Given the description of an element on the screen output the (x, y) to click on. 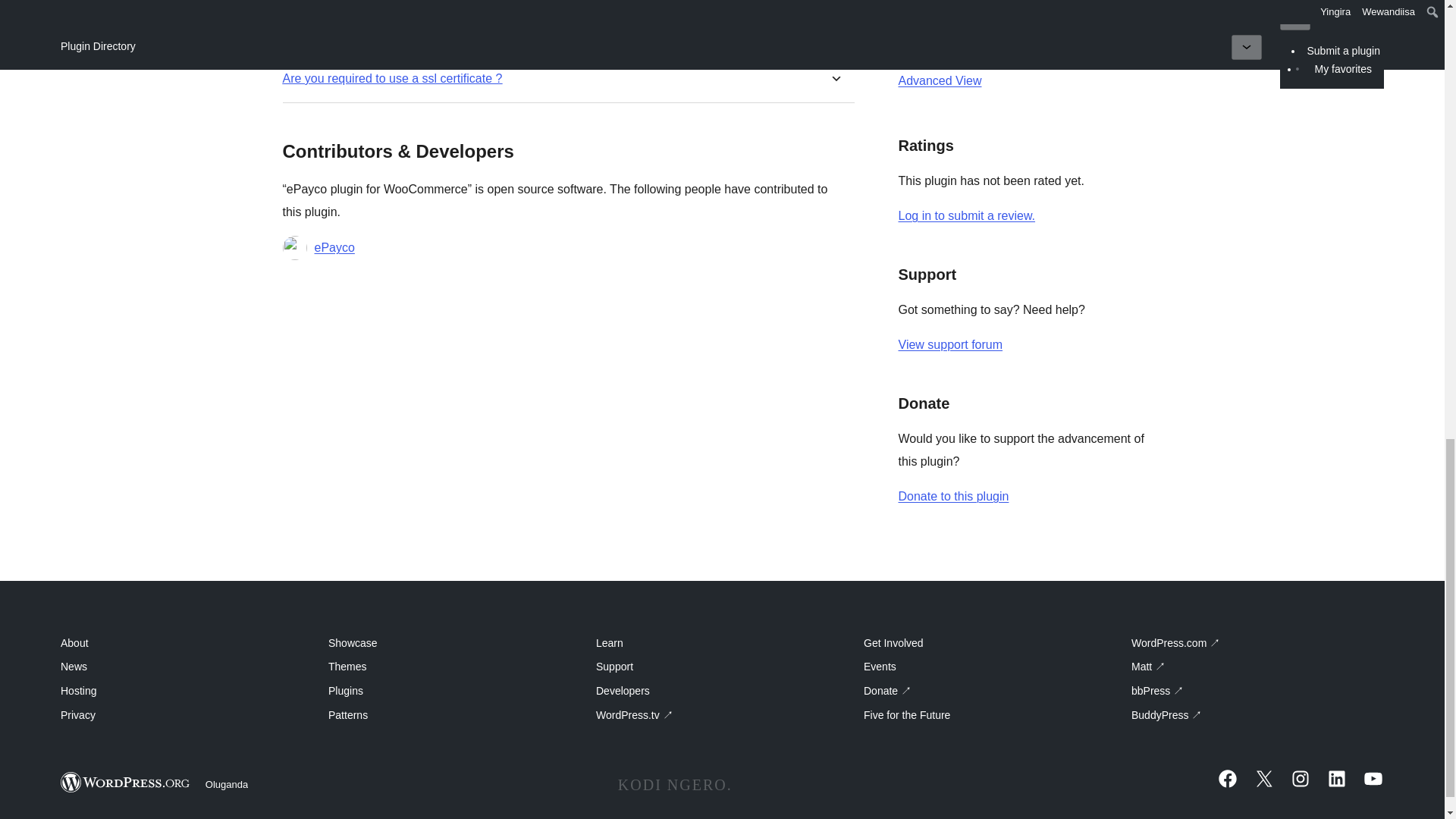
What types of payment methods do they receive? (415, 30)
WordPress.org (125, 782)
ePayco (333, 247)
Log in to WordPress.org (966, 215)
Are you required to use a ssl certificate ? (392, 78)
